Given the description of an element on the screen output the (x, y) to click on. 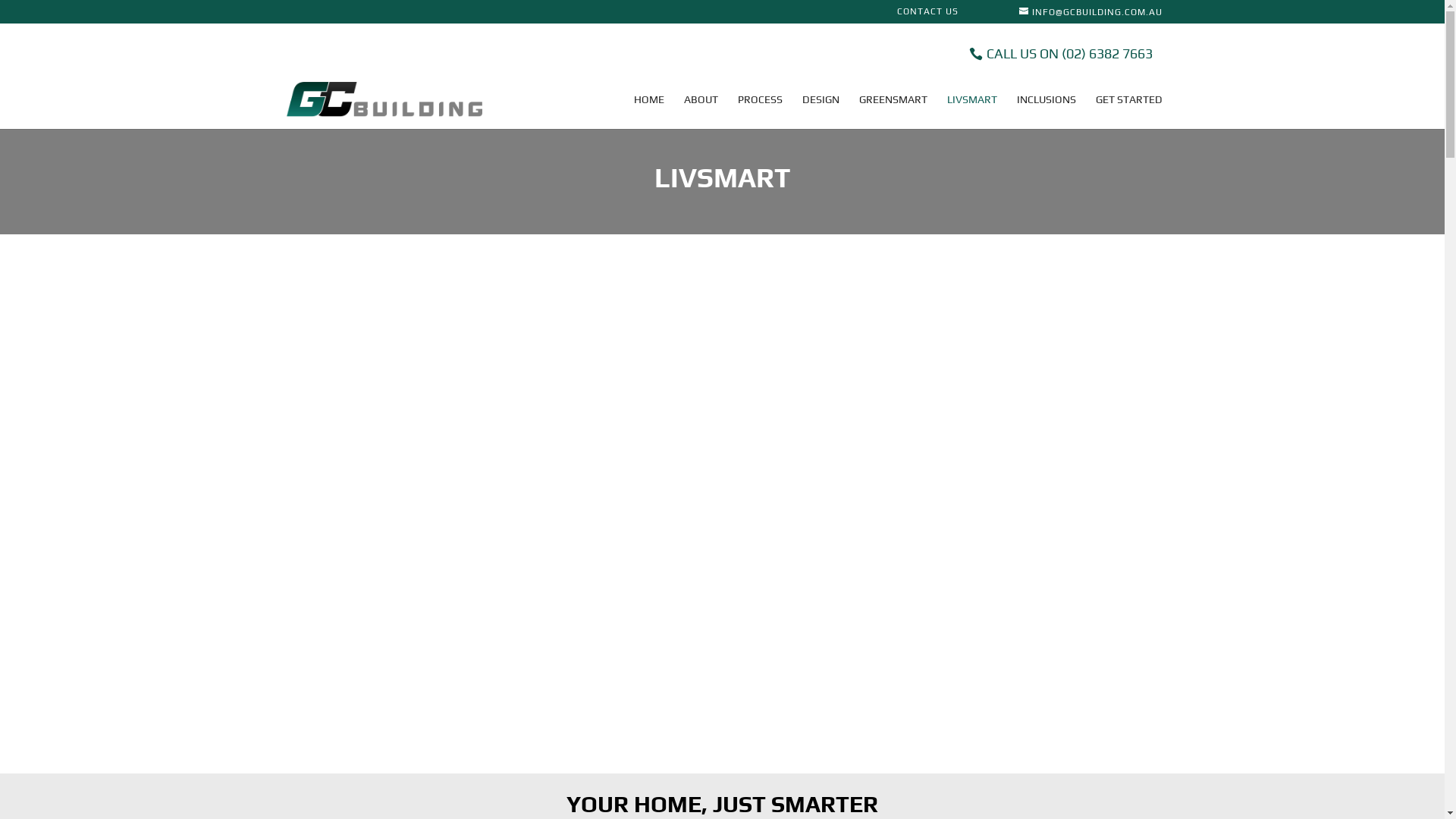
CONTACT US Element type: text (926, 14)
DESIGN Element type: text (820, 111)
INFO@GCBUILDING.COM.AU Element type: text (1090, 11)
INCLUSIONS Element type: text (1045, 111)
GET STARTED Element type: text (1128, 111)
HOME Element type: text (648, 111)
PROCESS Element type: text (759, 111)
ABOUT Element type: text (701, 111)
GREENSMART Element type: text (892, 111)
LIVSMART Element type: text (971, 111)
CALL US ON (02) 6382 7663 Element type: text (1060, 53)
